Given the description of an element on the screen output the (x, y) to click on. 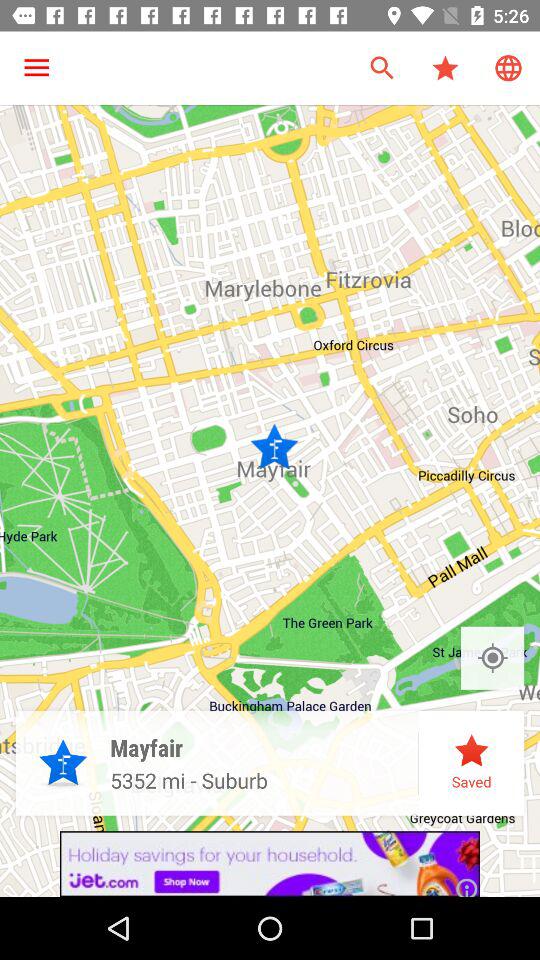
center view in current gps position (492, 657)
